Given the description of an element on the screen output the (x, y) to click on. 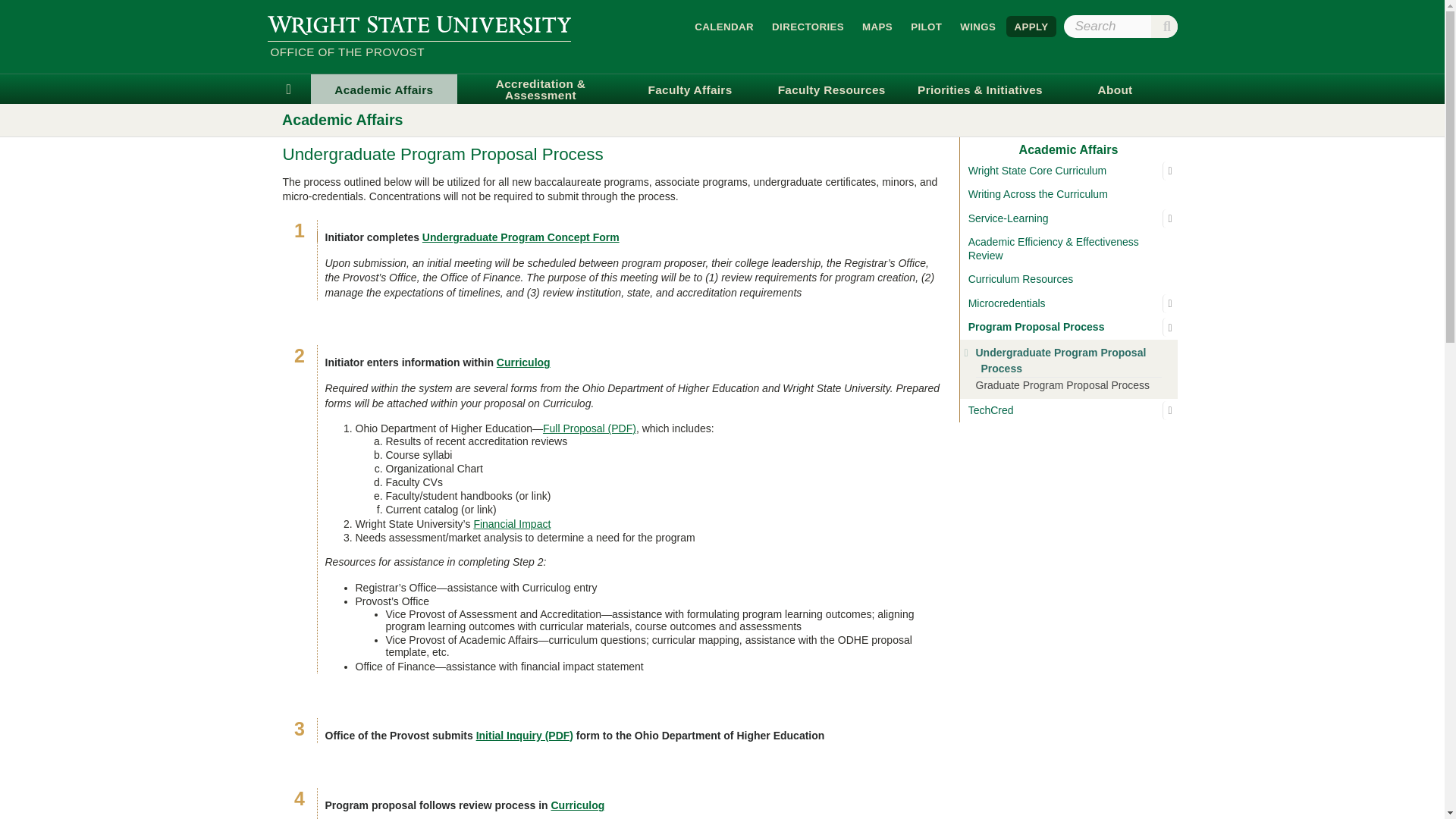
Enter the terms you wish to search for. (1119, 26)
Writing Across the Curriculum (1068, 194)
OFFICE OF THE PROVOST (418, 53)
Go to Wright State University home page (418, 23)
About (1114, 89)
Wright State University (418, 23)
Curriculum Resources (1068, 279)
CALENDAR (724, 25)
Home (288, 89)
WINGS (977, 25)
